Given the description of an element on the screen output the (x, y) to click on. 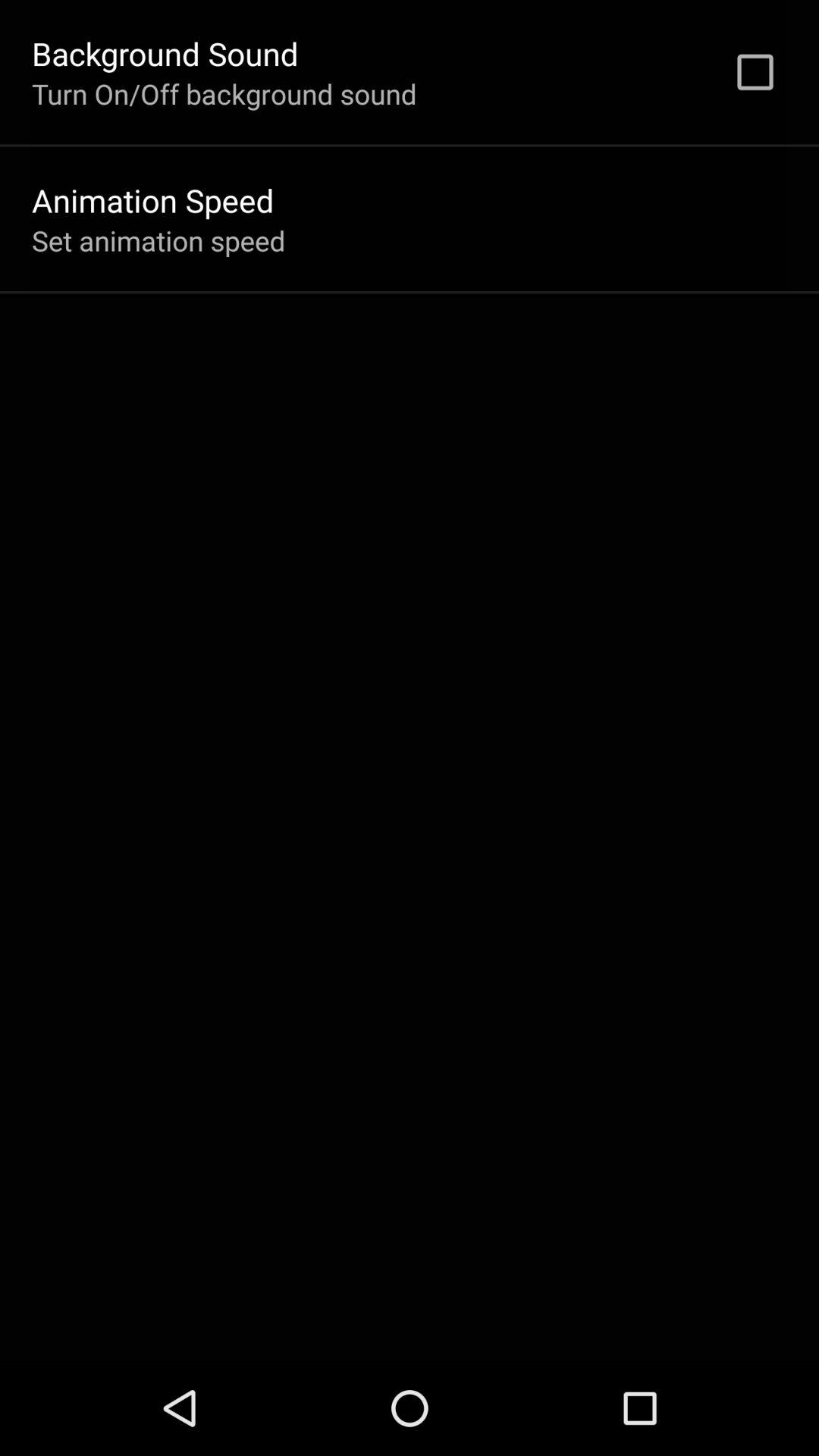
open the turn on off icon (223, 93)
